Given the description of an element on the screen output the (x, y) to click on. 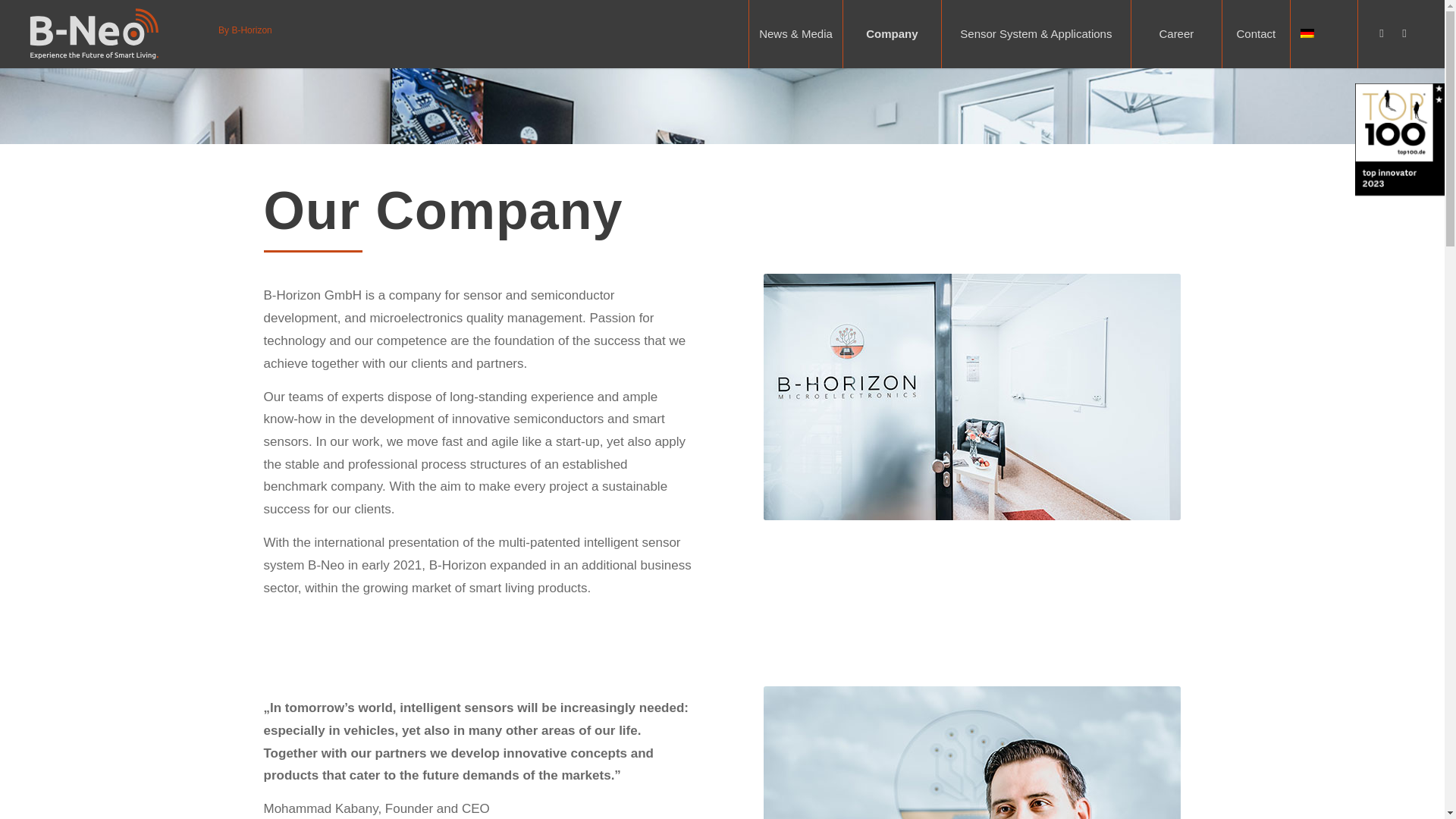
By B-Horizon (245, 32)
Company (891, 33)
B-Neo Mohammad Kabany (971, 752)
B-Neo Company (971, 396)
Xing (1381, 33)
Career (1176, 33)
Contact (1255, 33)
LinkedIn (1404, 33)
